Given the description of an element on the screen output the (x, y) to click on. 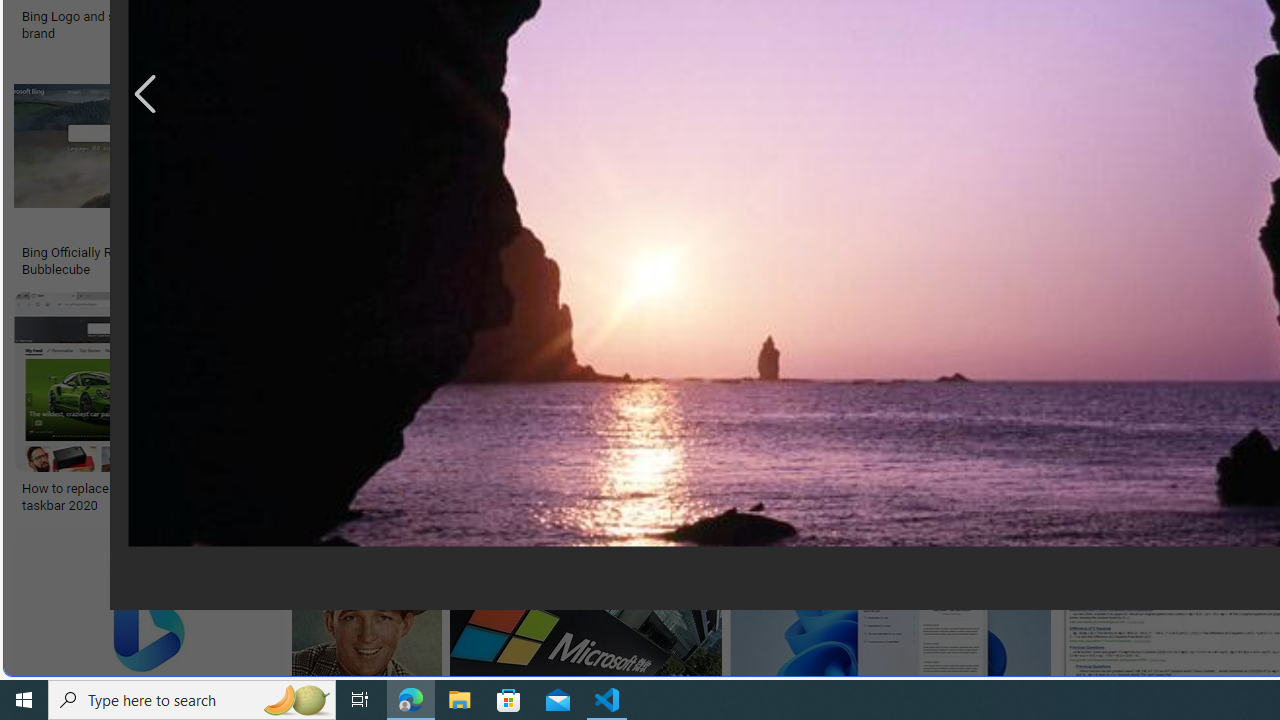
Bing - SEOLendSave (493, 169)
Bing - SEOLend (386, 253)
Bing Logo and symbol, meaning, history, PNG, brand (170, 24)
How to replace Bing in Windows 10 search on the taskbar 2020 (164, 497)
